Given the description of an element on the screen output the (x, y) to click on. 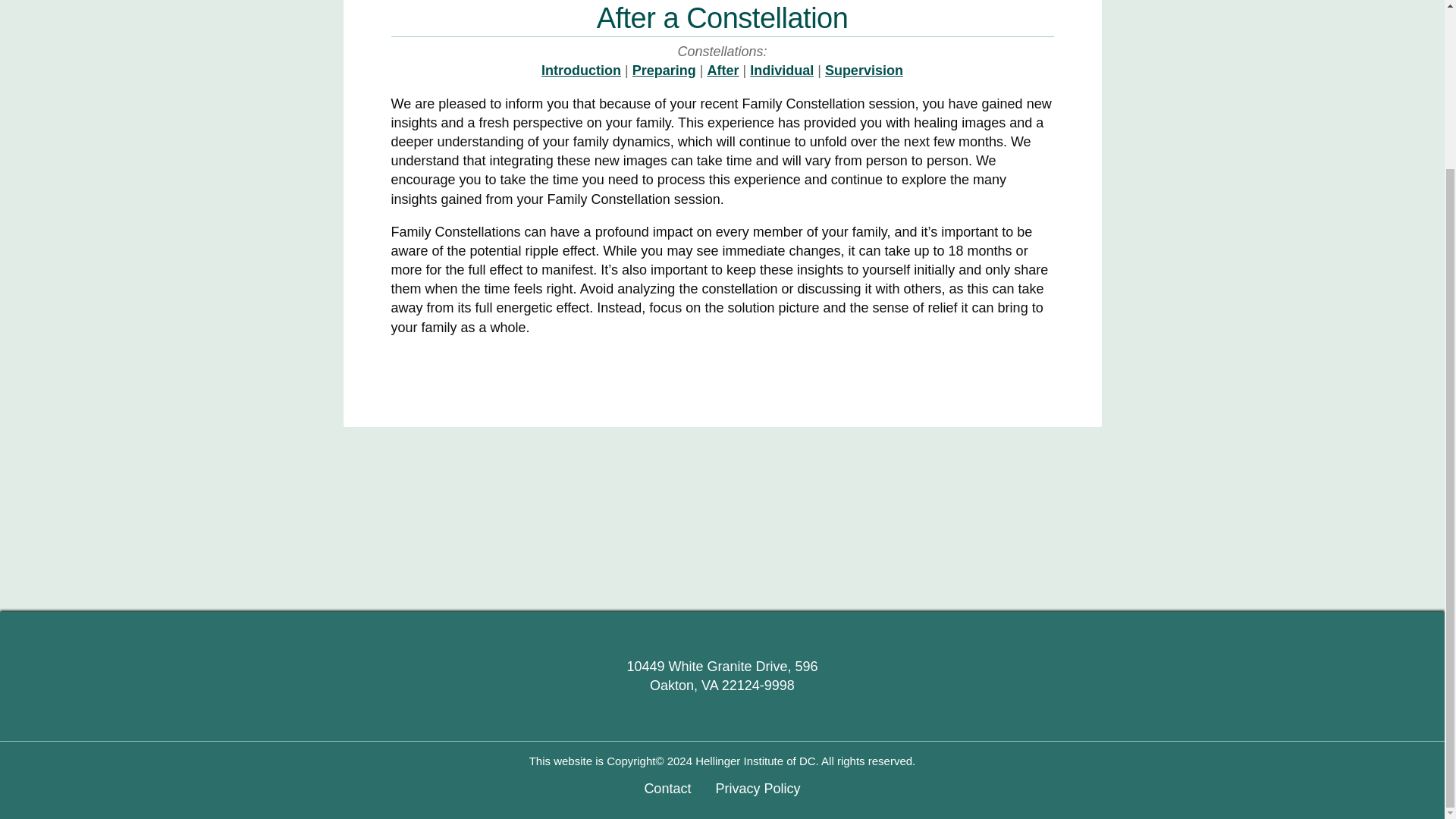
Preparing (663, 70)
Introduction (581, 70)
After (722, 70)
Individual (781, 70)
Supervision (863, 70)
